Given the description of an element on the screen output the (x, y) to click on. 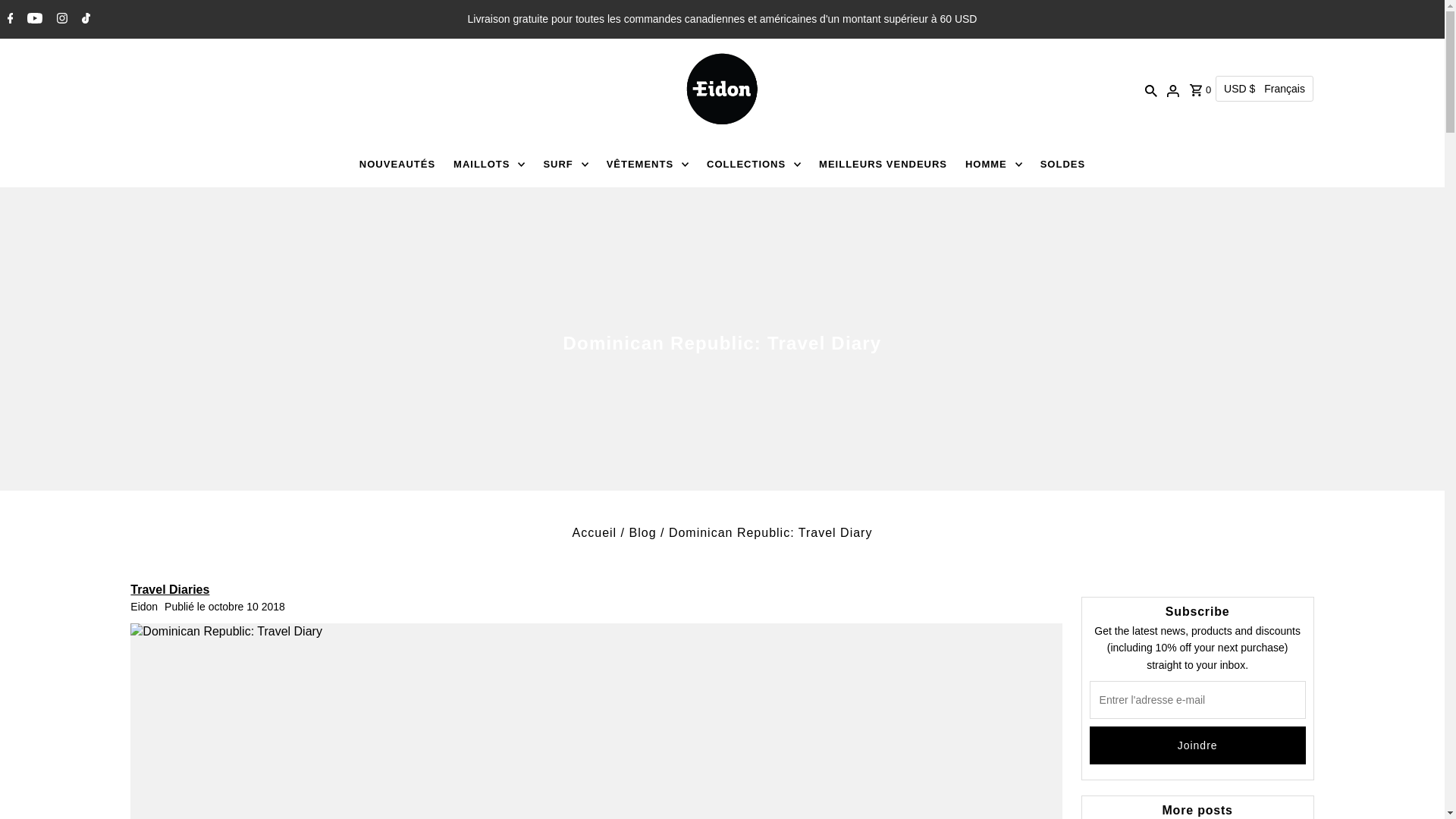
SURF (565, 164)
Joindre (1197, 745)
Accueil (594, 532)
MAILLOTS (488, 164)
